Given the description of an element on the screen output the (x, y) to click on. 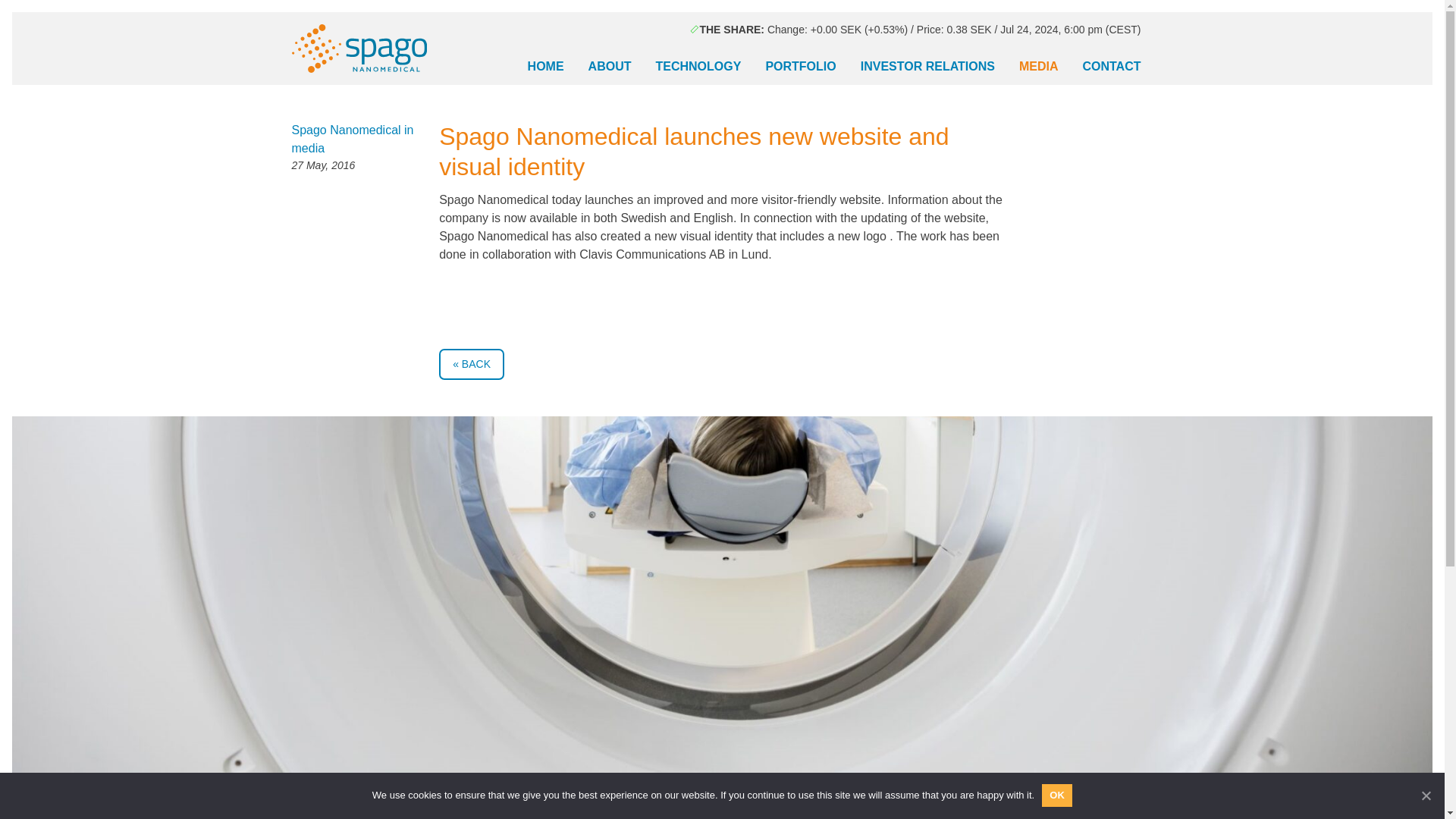
HOME (545, 66)
Spago Nanomedical in media (352, 138)
TECHNOLOGY (697, 66)
MEDIA (1038, 66)
ABOUT (609, 66)
CONTACT (1111, 66)
PORTFOLIO (799, 66)
INVESTOR RELATIONS (927, 66)
BACK (471, 364)
